Given the description of an element on the screen output the (x, y) to click on. 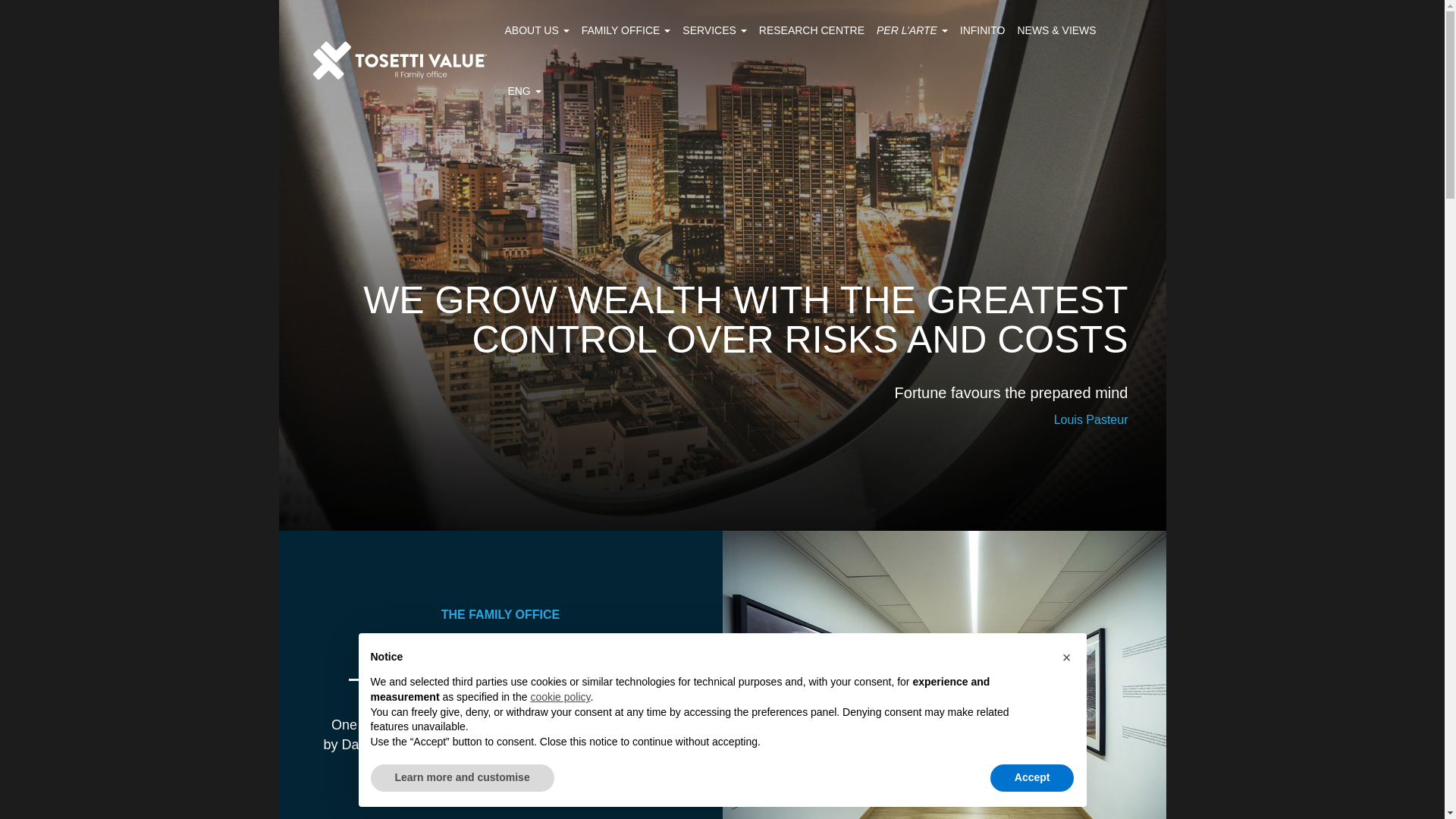
PER L'ARTE (911, 30)
SERVICES (714, 30)
ABOUT US (537, 30)
SERVICES (714, 30)
RESEARCH CENTRE (811, 30)
INFINITO (982, 30)
 ENG (523, 90)
FAMILY OFFICE (626, 30)
FAMILY OFFICE (626, 30)
ABOUT US (537, 30)
RESEARCH CENTRE (811, 30)
